Given the description of an element on the screen output the (x, y) to click on. 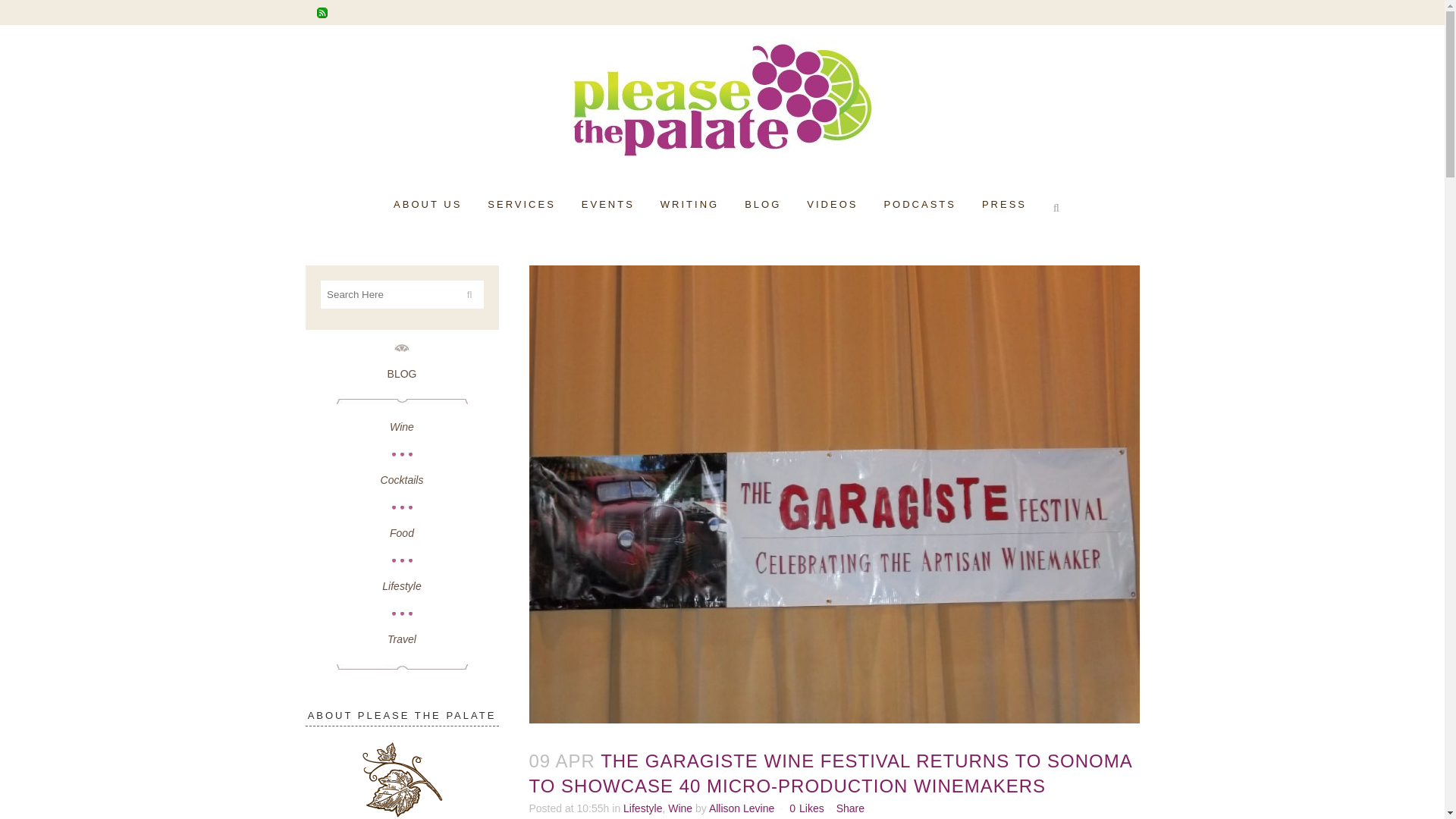
SERVICES (521, 204)
WRITING (689, 204)
Like this (806, 808)
EVENTS (608, 204)
ABOUT US (427, 204)
PRESS (1004, 204)
VIDEOS (831, 204)
PODCASTS (919, 204)
